Given the description of an element on the screen output the (x, y) to click on. 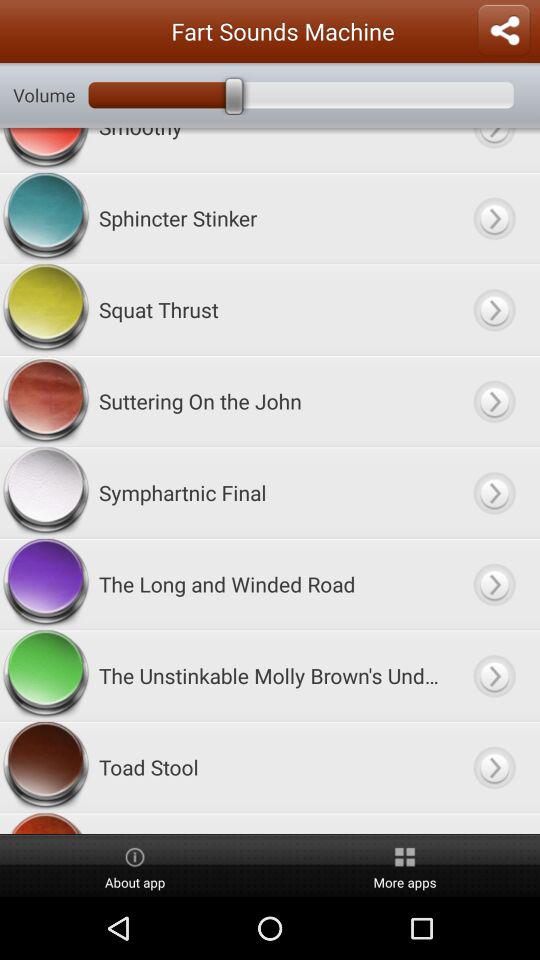
sharing options (503, 31)
